Given the description of an element on the screen output the (x, y) to click on. 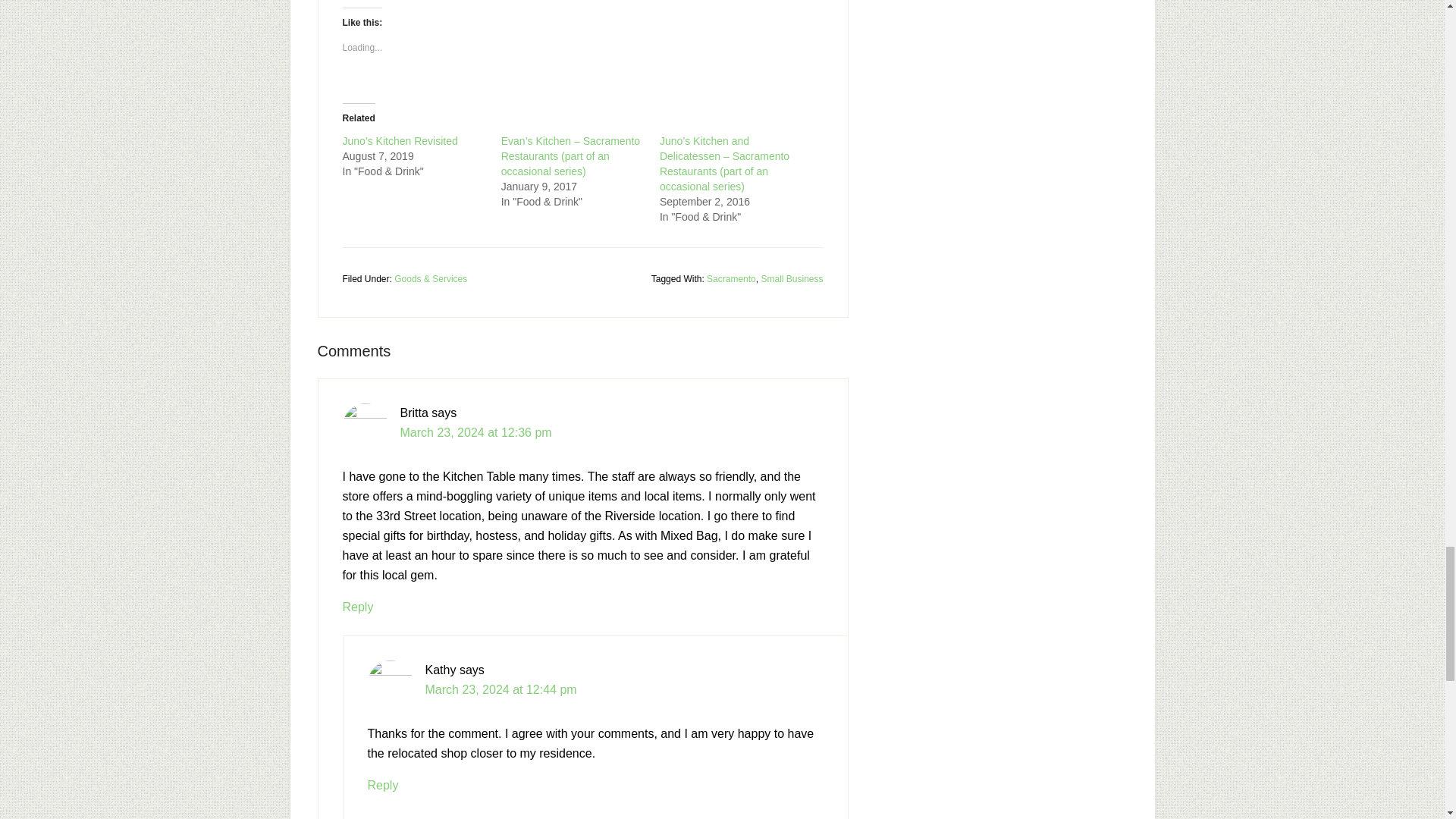
March 23, 2024 at 12:44 pm (500, 689)
Sacramento (730, 278)
March 23, 2024 at 12:36 pm (475, 431)
Small Business (791, 278)
Reply (358, 606)
Reply (381, 784)
